Given the description of an element on the screen output the (x, y) to click on. 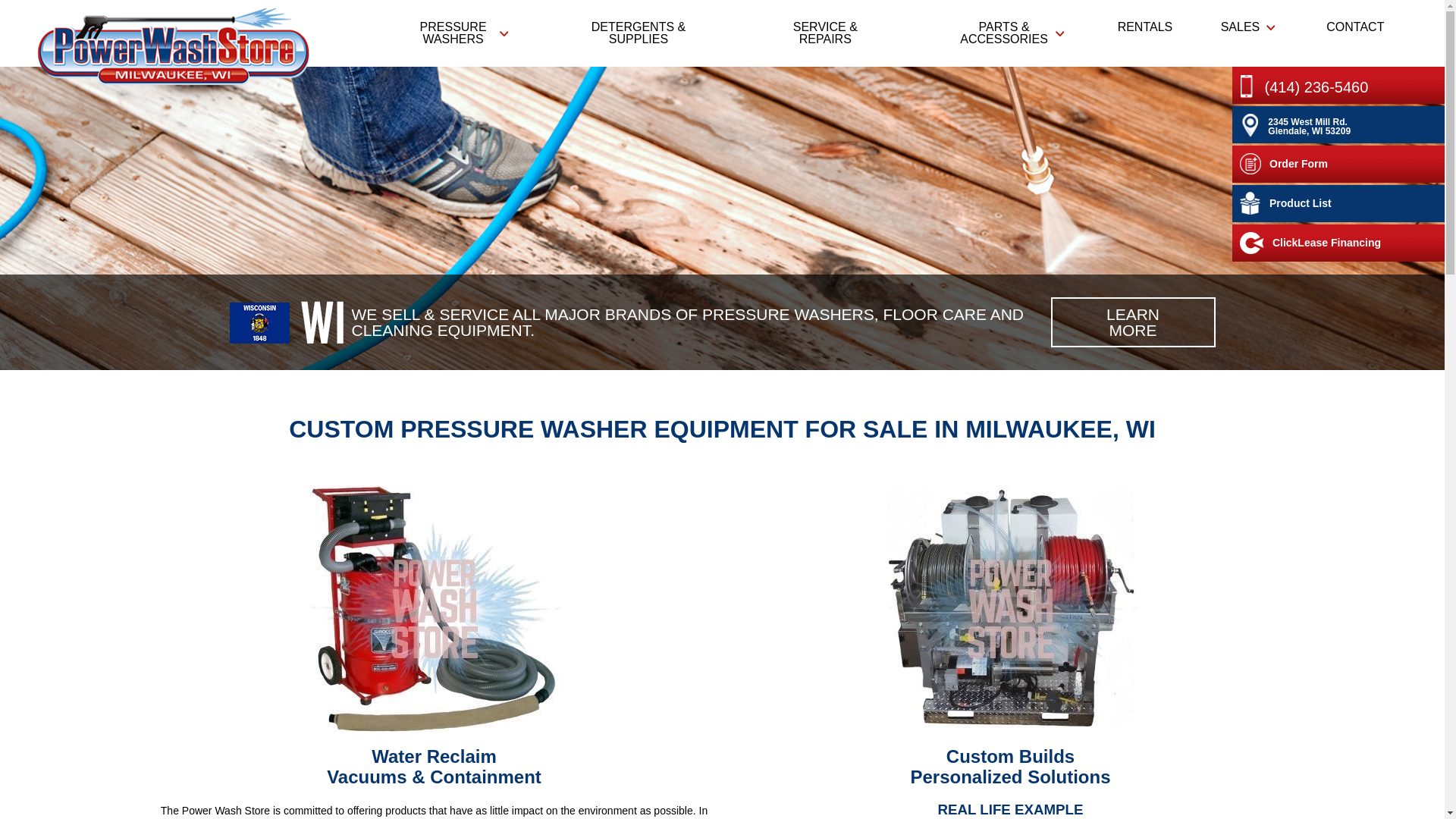
PRESSURE WASHERS (449, 33)
CONTACT (1352, 27)
Buy pressure washer detergents and supplies in Milwaukee, WI (637, 33)
SALES (1247, 27)
RENTALS (1144, 27)
Custom Builds (1010, 756)
Power Wash Store of Central TN logo (172, 46)
LEARN MORE (1133, 322)
Personalized Solutions (1009, 776)
